Given the description of an element on the screen output the (x, y) to click on. 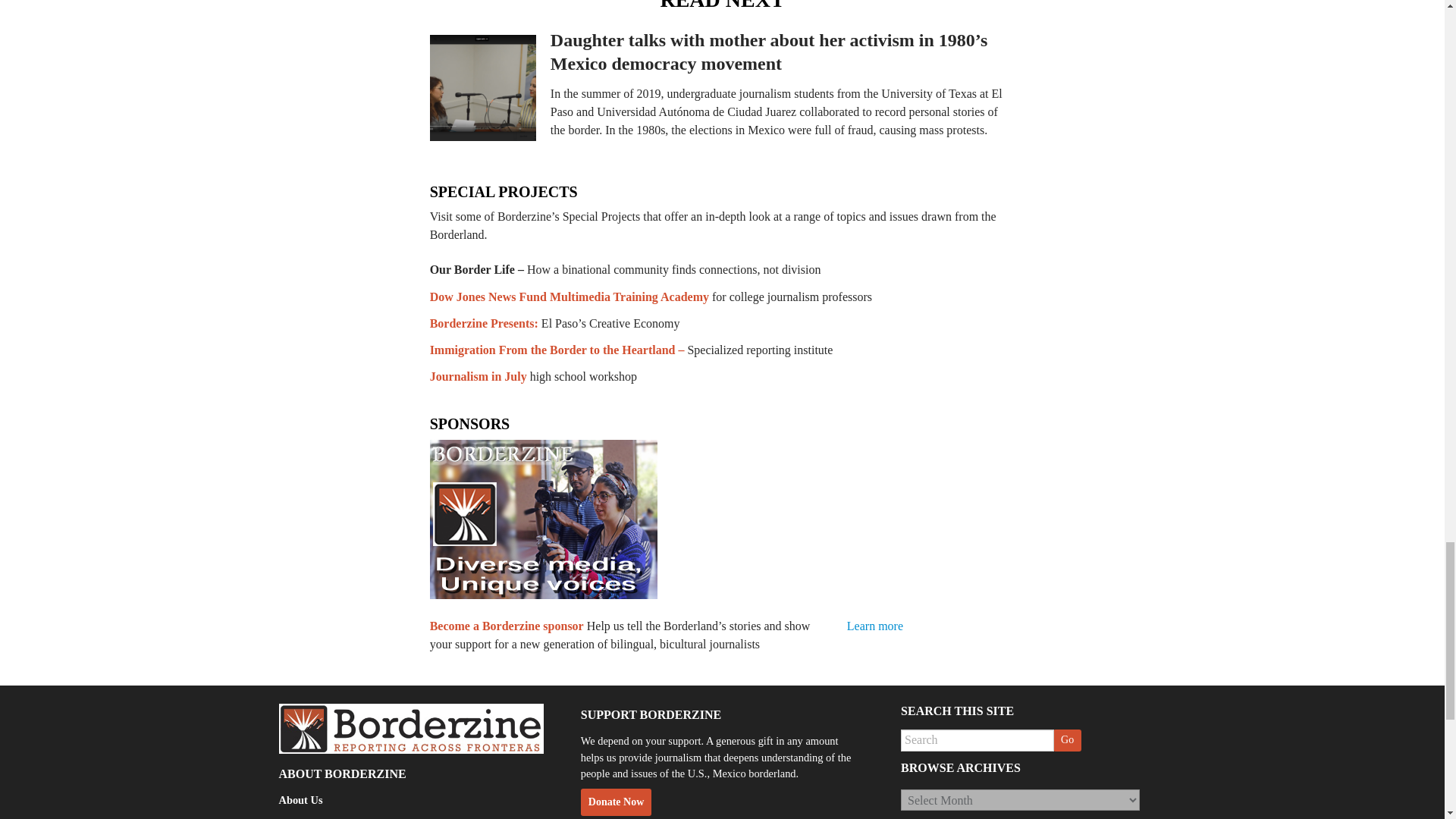
Read:  (768, 51)
